Given the description of an element on the screen output the (x, y) to click on. 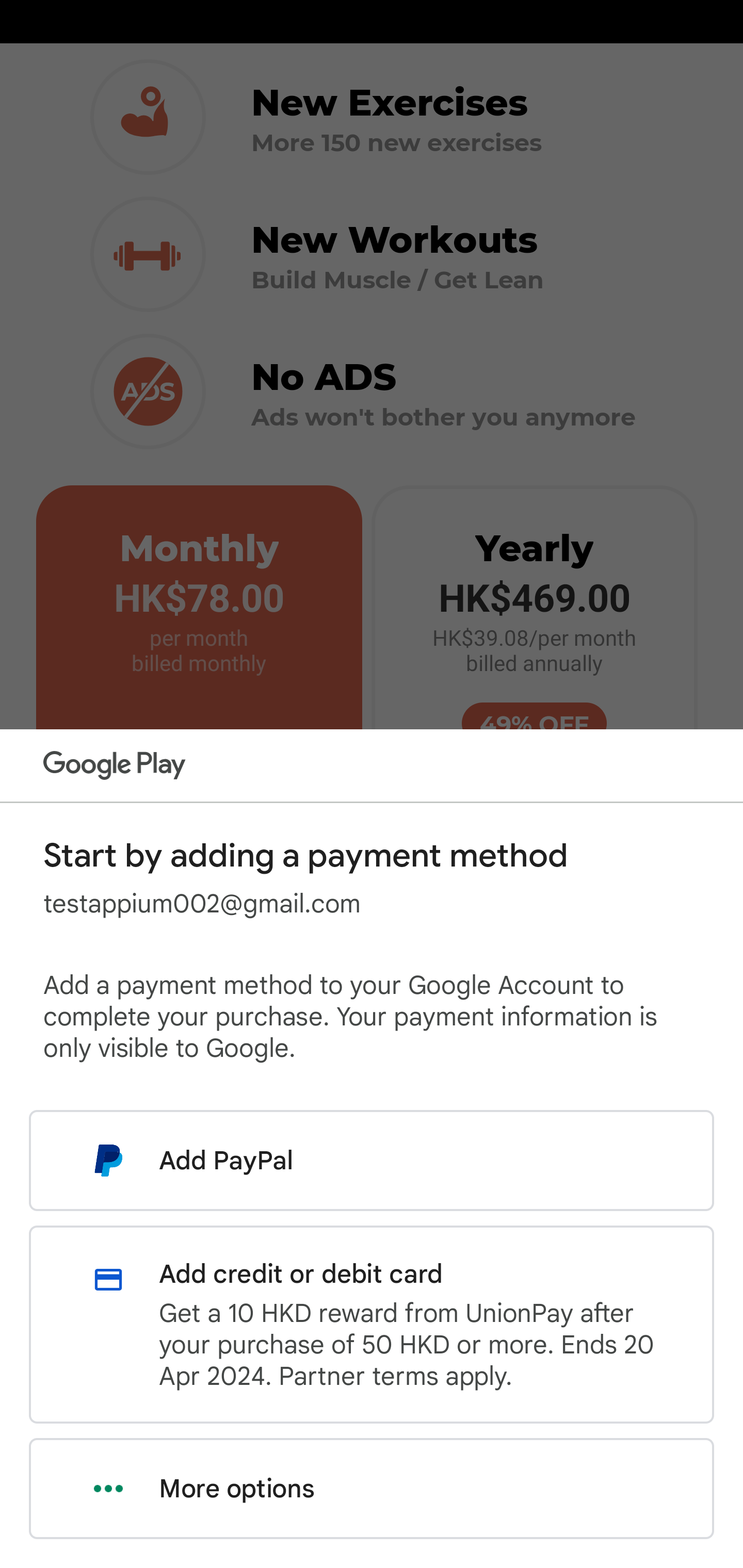
Add PayPal (371, 1160)
More options (371, 1488)
